Given the description of an element on the screen output the (x, y) to click on. 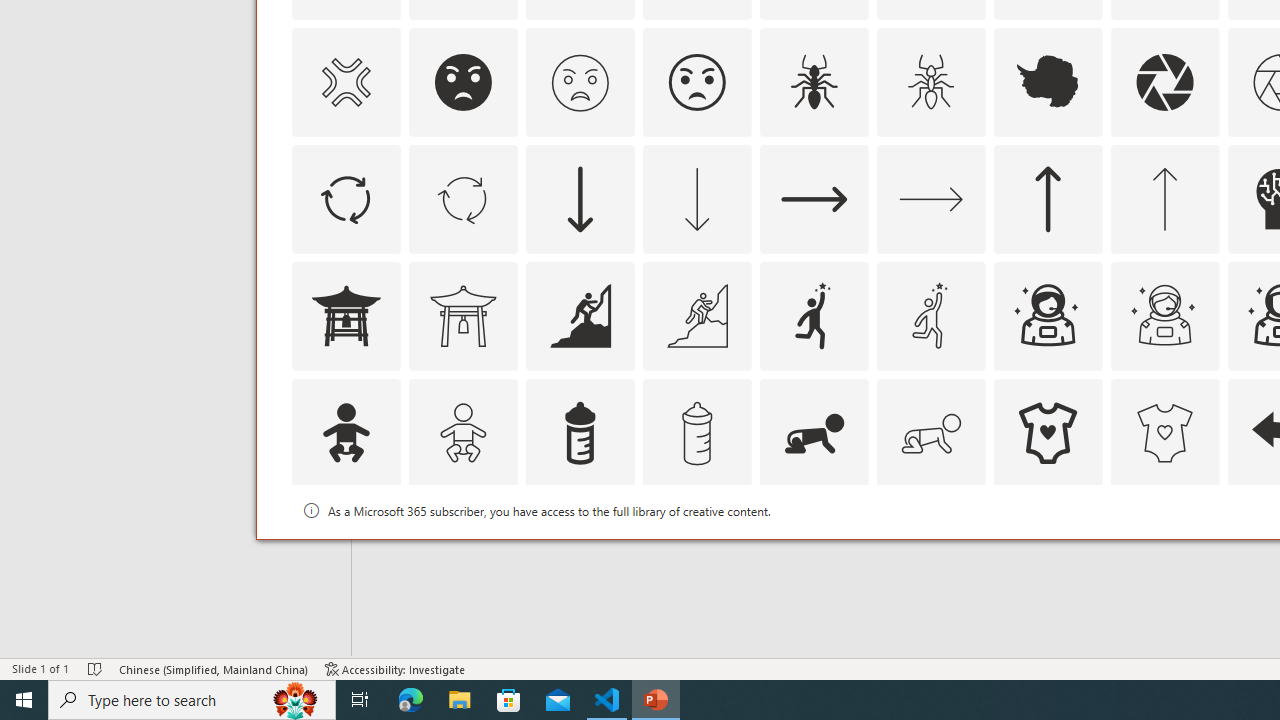
AutomationID: Icons_AngryFace_M (579, 82)
AutomationID: Icons_AngryFace_Outline (696, 82)
AutomationID: Icons_AngerSymbol_M (345, 82)
AutomationID: Icons_BabyCrawling_M (930, 432)
AutomationID: Icons_Badge4 (930, 550)
AutomationID: Icons_BabyOnesie_M (1164, 432)
AutomationID: Icons_Badge3_M (813, 550)
